Given the description of an element on the screen output the (x, y) to click on. 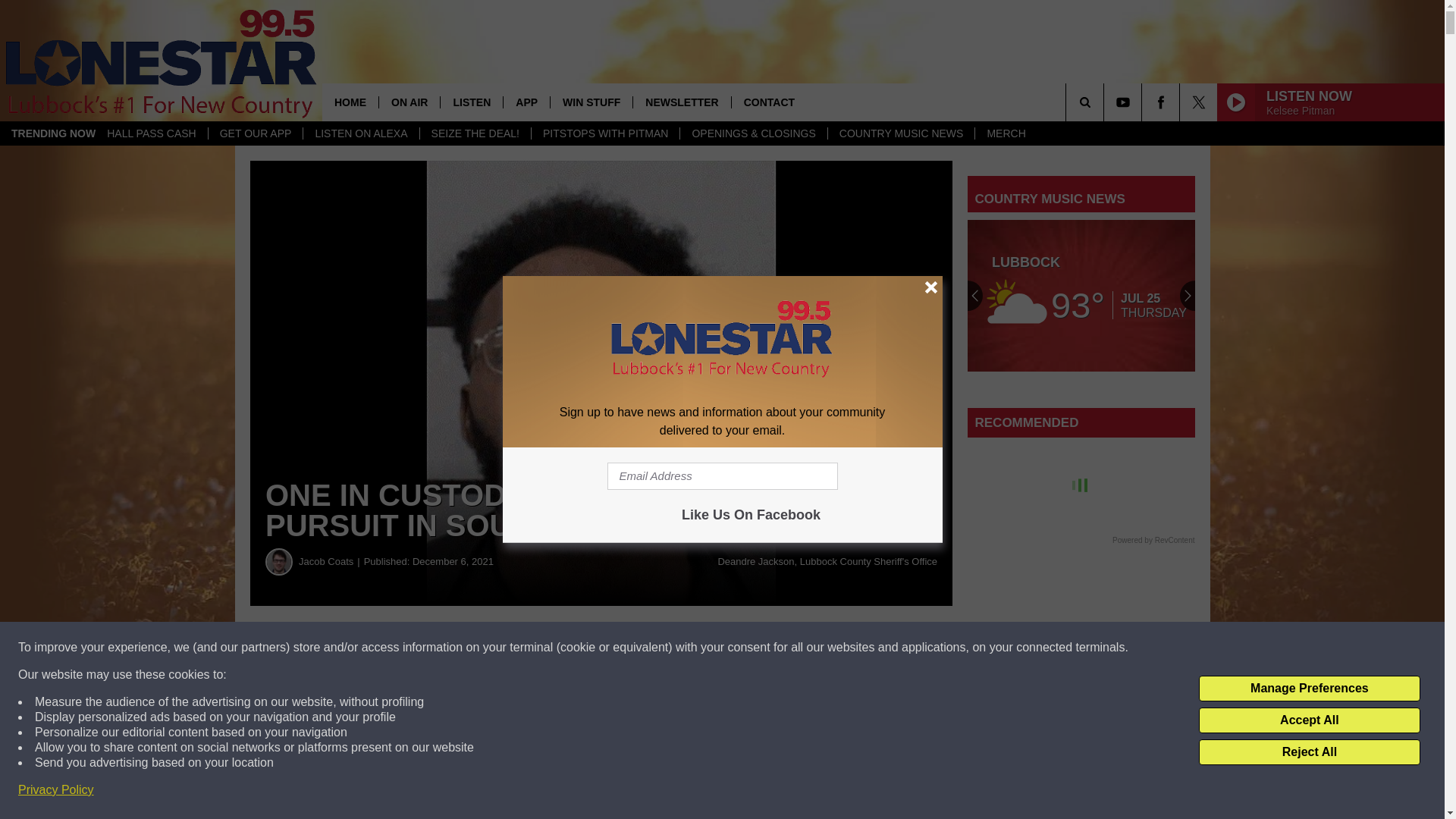
ON AIR (408, 102)
SEIZE THE DEAL! (475, 133)
MERCH (1005, 133)
SEARCH (1106, 102)
Manage Preferences (1309, 688)
LISTEN ON ALEXA (360, 133)
Privacy Policy (55, 789)
LISTEN (470, 102)
Email Address (722, 475)
Accept All (1309, 720)
HOME (349, 102)
Share on Facebook (460, 647)
SEARCH (1106, 102)
HALL PASS CASH (152, 133)
Reject All (1309, 751)
